Given the description of an element on the screen output the (x, y) to click on. 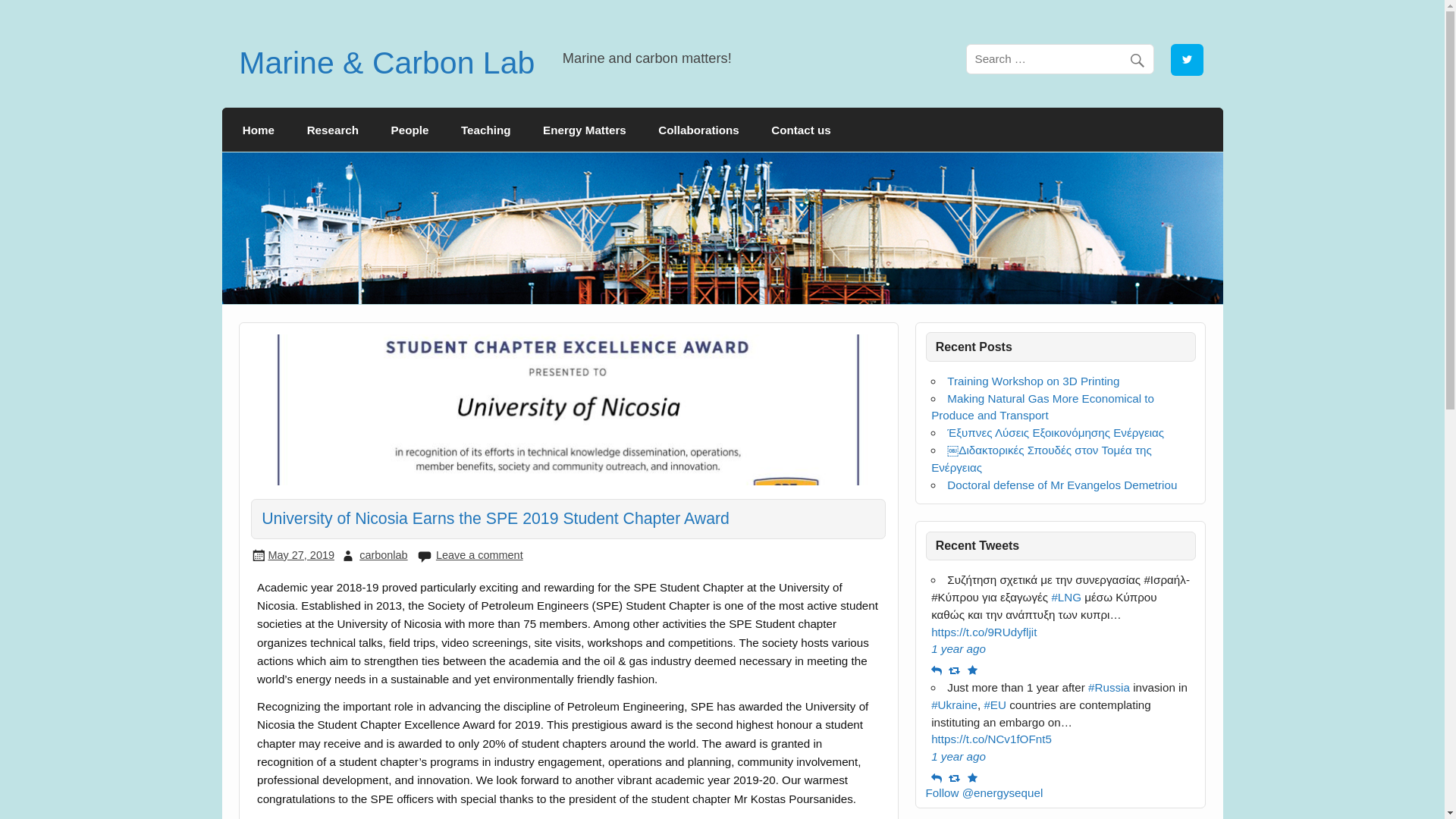
Home (259, 129)
15:12 (300, 554)
carbonlab (383, 554)
Reply (937, 777)
Collaborations (698, 129)
Making Natural Gas More Economical to Produce and Transport (1042, 407)
Contact us (801, 129)
Teaching (486, 129)
Training Workshop on 3D Printing (1033, 380)
Retweet (955, 777)
